Given the description of an element on the screen output the (x, y) to click on. 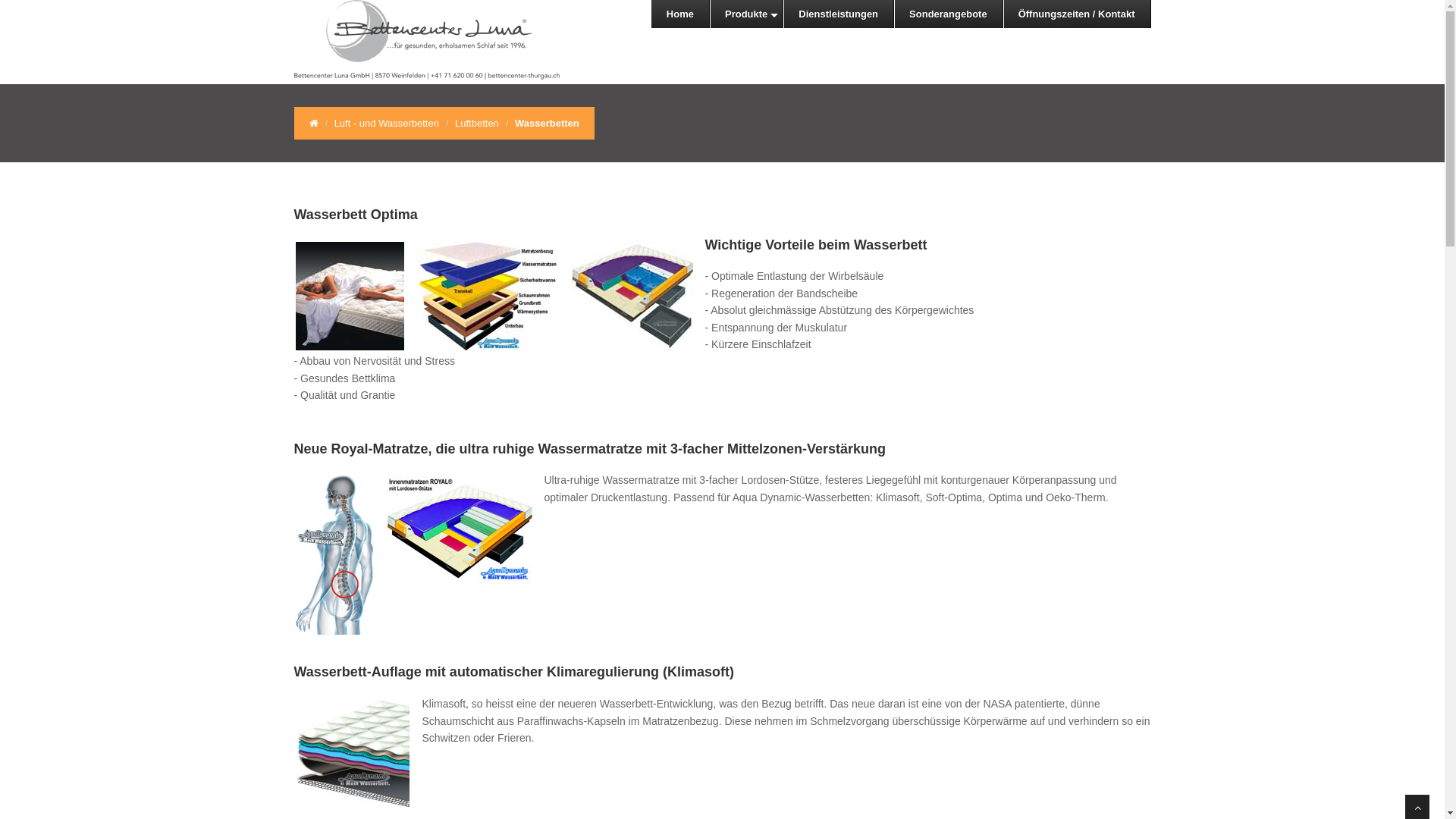
Luft - und Wasserbetten Element type: text (386, 122)
Dienstleistungen Element type: text (838, 14)
Luftbetten Element type: text (476, 122)
Wasserbetten Element type: text (546, 122)
Produkte Element type: text (746, 14)
Sonderangebote Element type: text (948, 14)
Home Element type: text (680, 14)
